Given the description of an element on the screen output the (x, y) to click on. 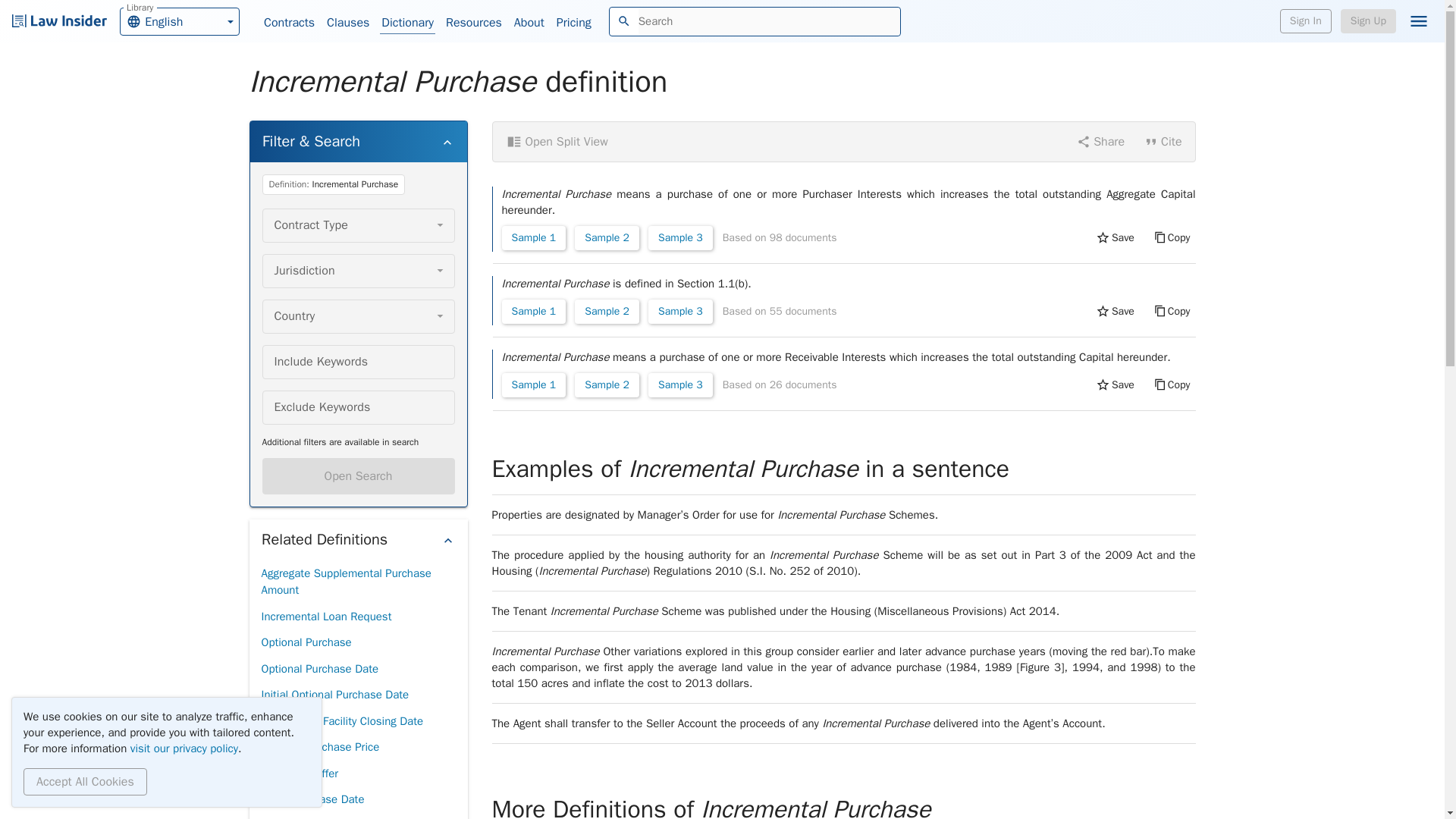
Pricing (573, 23)
Optional Purchase Date (319, 669)
Incremental Facility Closing Date (341, 721)
Increment Offer (298, 773)
Resources (473, 23)
Accept All Cookies (85, 781)
Initial Optional Purchase Date (334, 694)
Optional Purchase (305, 642)
Dictionary (407, 23)
visit our privacy policy (184, 748)
Optional Purchase Price (319, 746)
About (529, 23)
Open Search (358, 475)
Aggregate Supplemental Purchase Amount (357, 581)
Initial Purchase Date (312, 799)
